Given the description of an element on the screen output the (x, y) to click on. 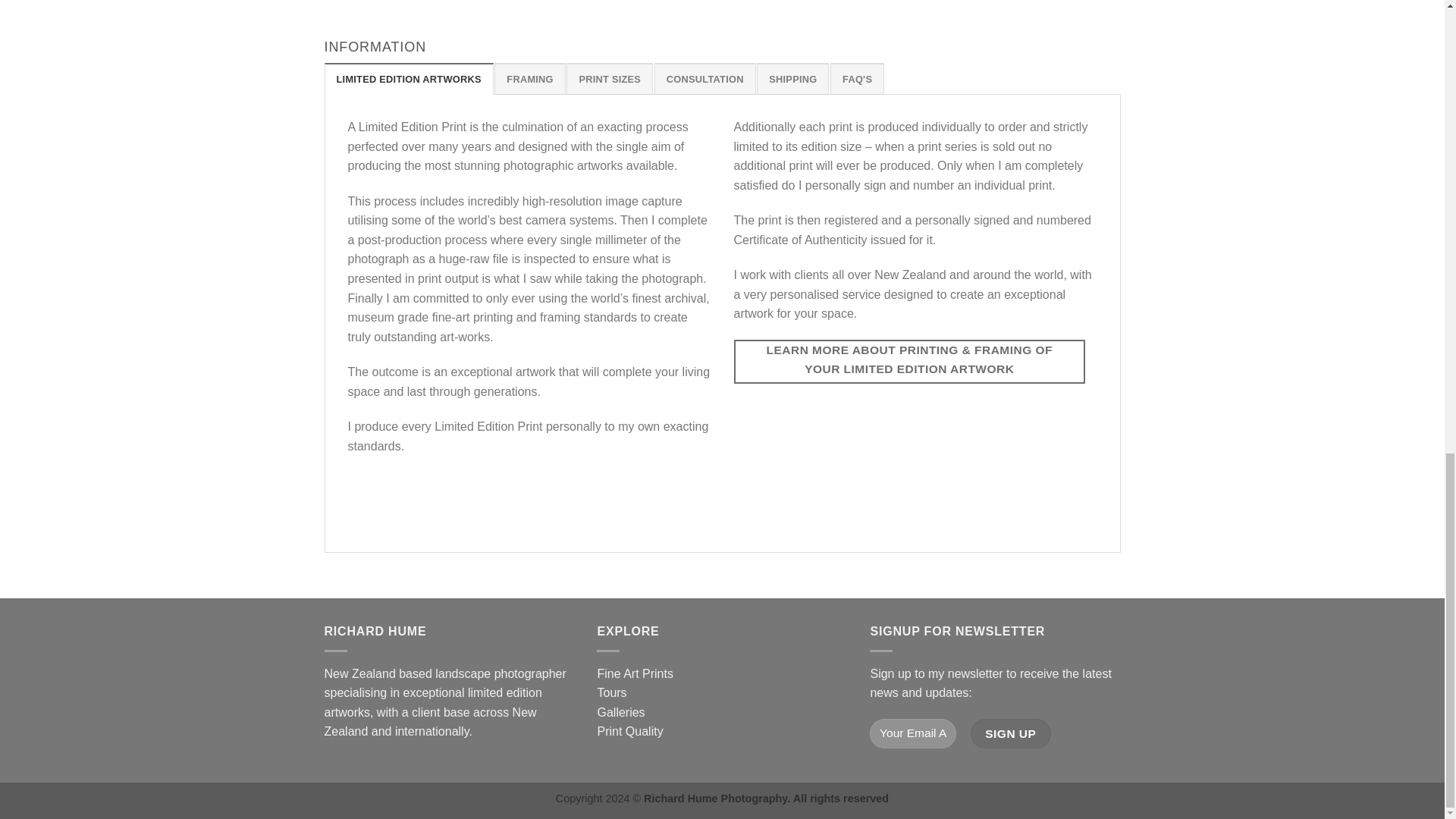
Sign Up (1011, 733)
